Given the description of an element on the screen output the (x, y) to click on. 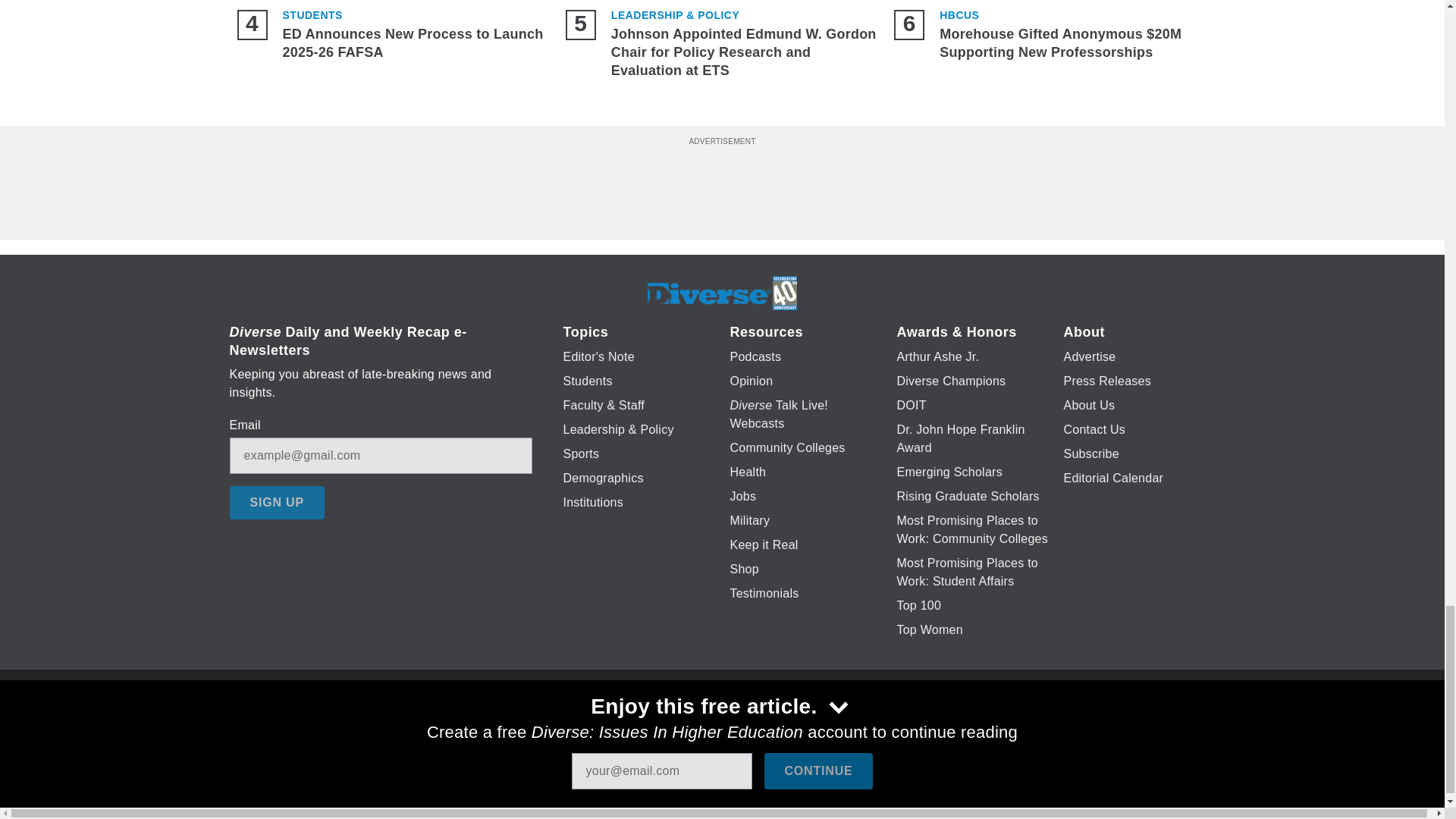
Instagram icon (796, 727)
Twitter X icon (674, 727)
YouTube icon (757, 727)
LinkedIn icon (718, 727)
Facebook icon (635, 727)
